Given the description of an element on the screen output the (x, y) to click on. 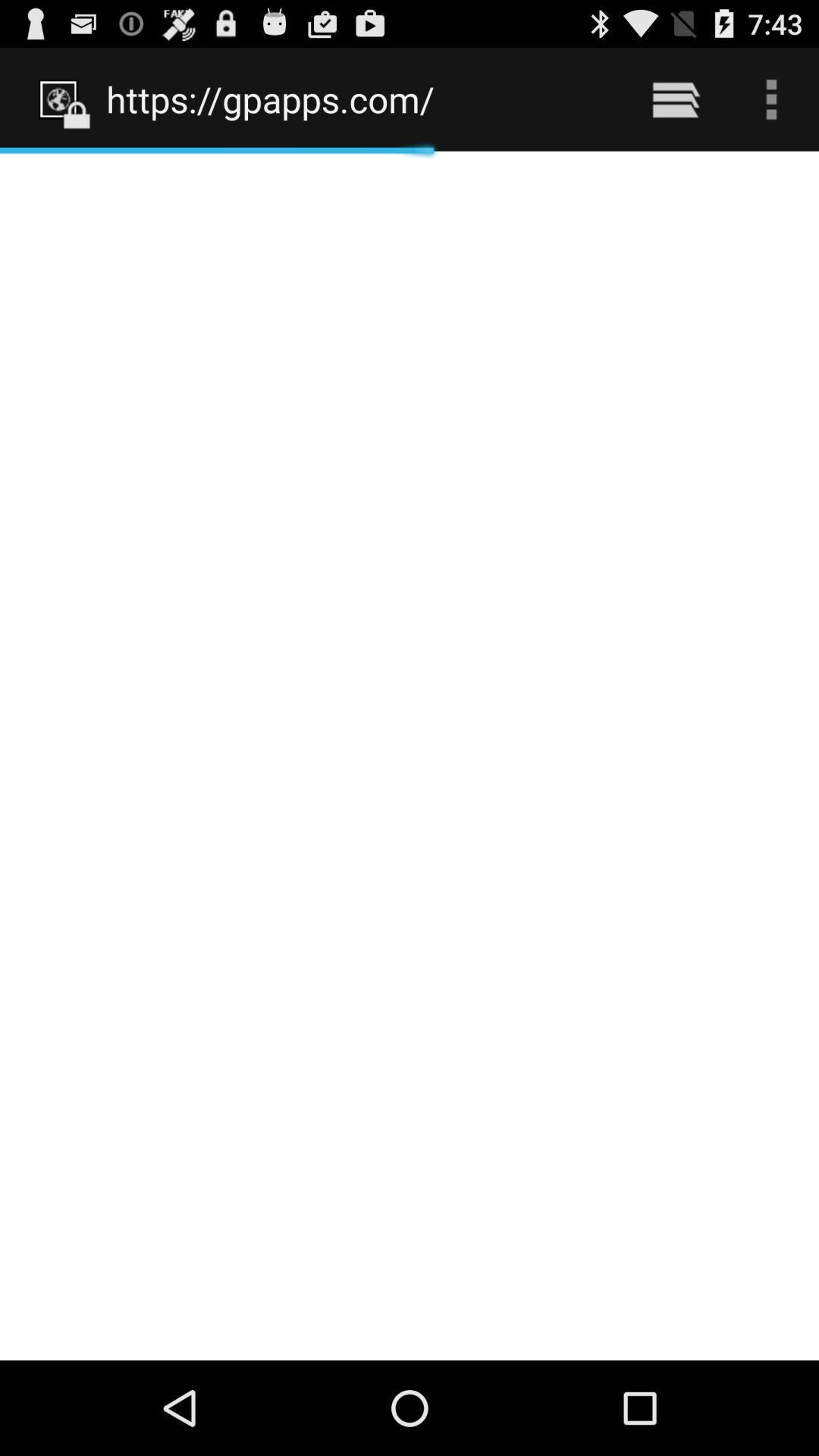
turn off the icon to the right of https://gpapps.com/ (675, 99)
